Given the description of an element on the screen output the (x, y) to click on. 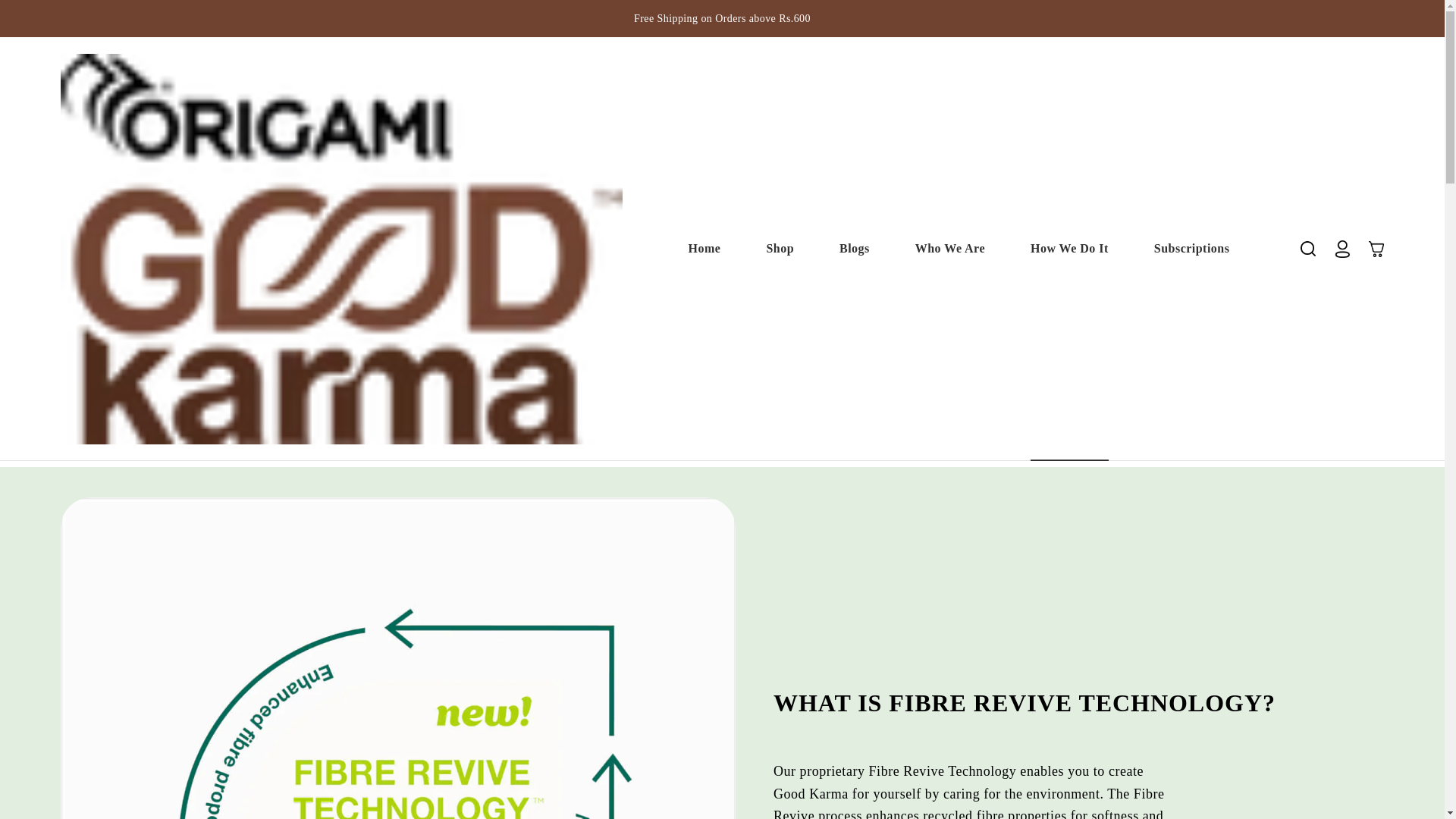
Free Shipping on Orders above Rs.600 (950, 247)
Shop (704, 247)
